Given the description of an element on the screen output the (x, y) to click on. 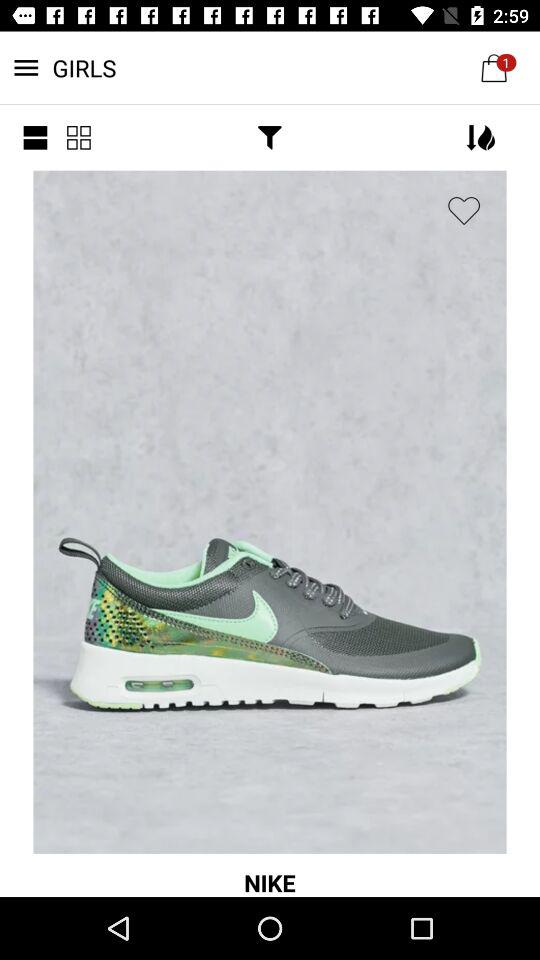
click icon next to the girls icon (35, 137)
